Given the description of an element on the screen output the (x, y) to click on. 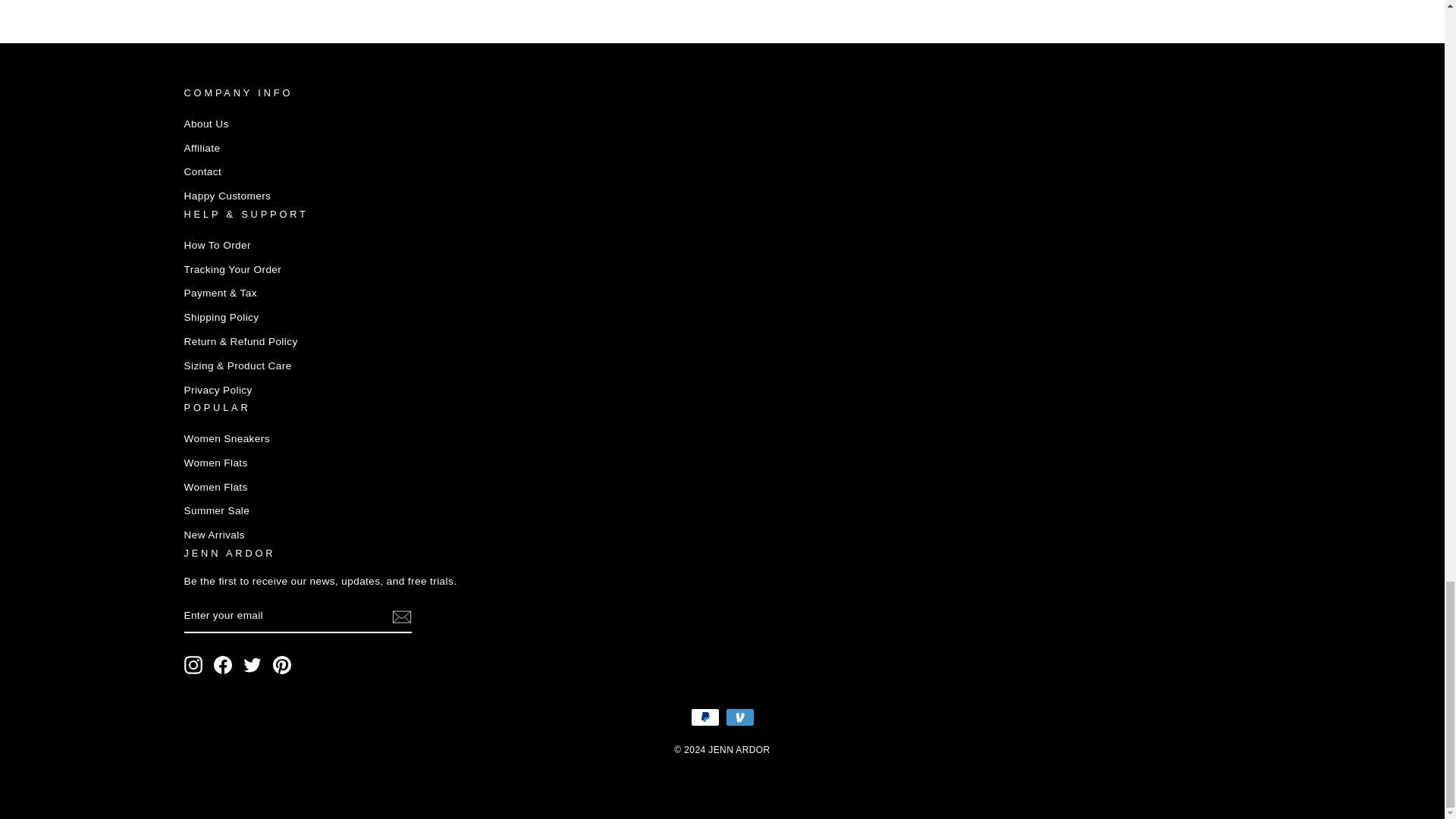
JENN ARDOR on Instagram (192, 665)
JENN ARDOR on Pinterest (282, 665)
JENN ARDOR on Twitter (251, 665)
icon-email (400, 617)
JENN ARDOR on Facebook (222, 665)
twitter (251, 665)
instagram (192, 665)
Venmo (739, 717)
PayPal (704, 717)
